Given the description of an element on the screen output the (x, y) to click on. 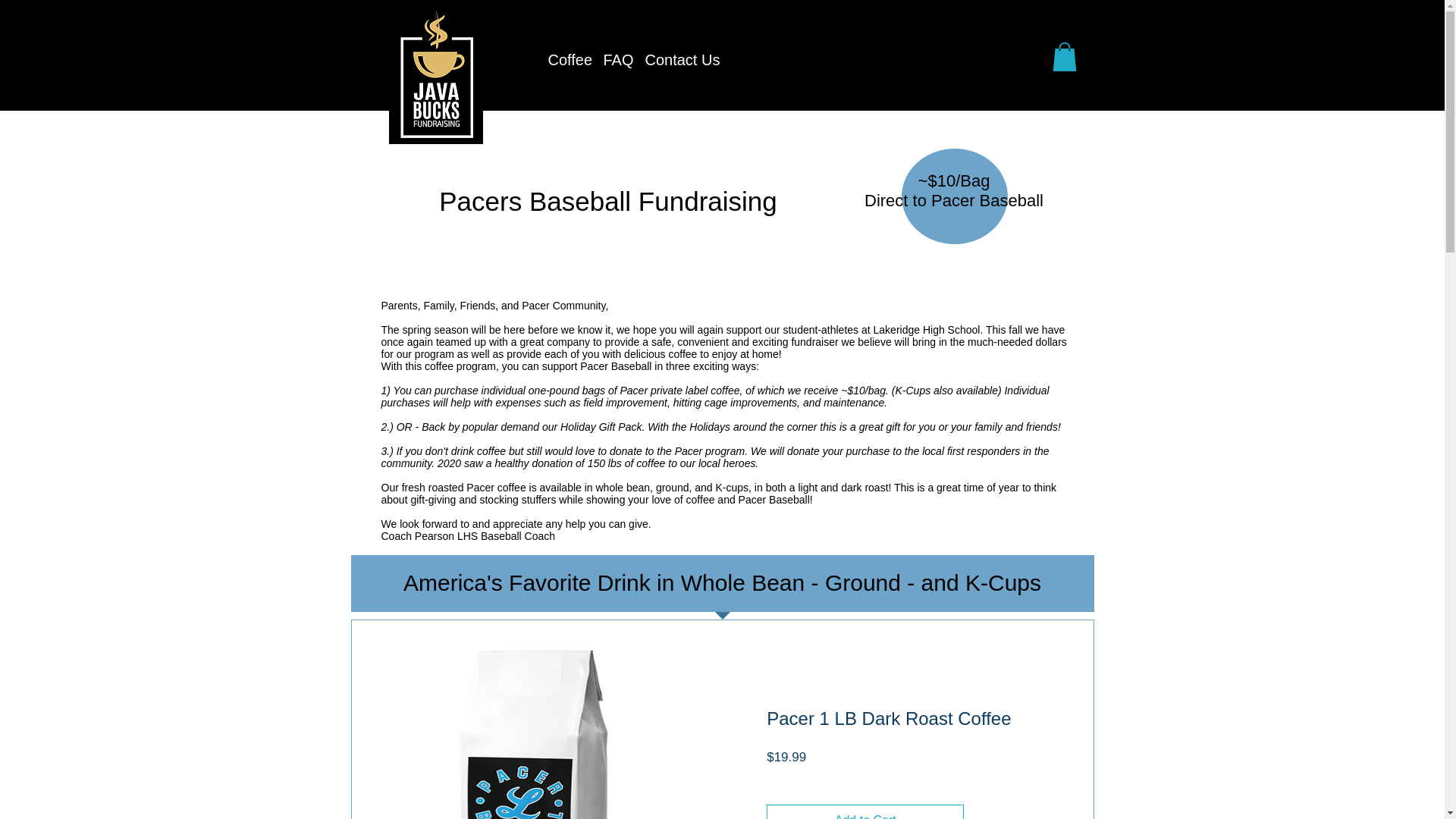
Add to Cart (865, 811)
Contact Us (671, 59)
Coffee (564, 59)
FAQ (612, 59)
